Given the description of an element on the screen output the (x, y) to click on. 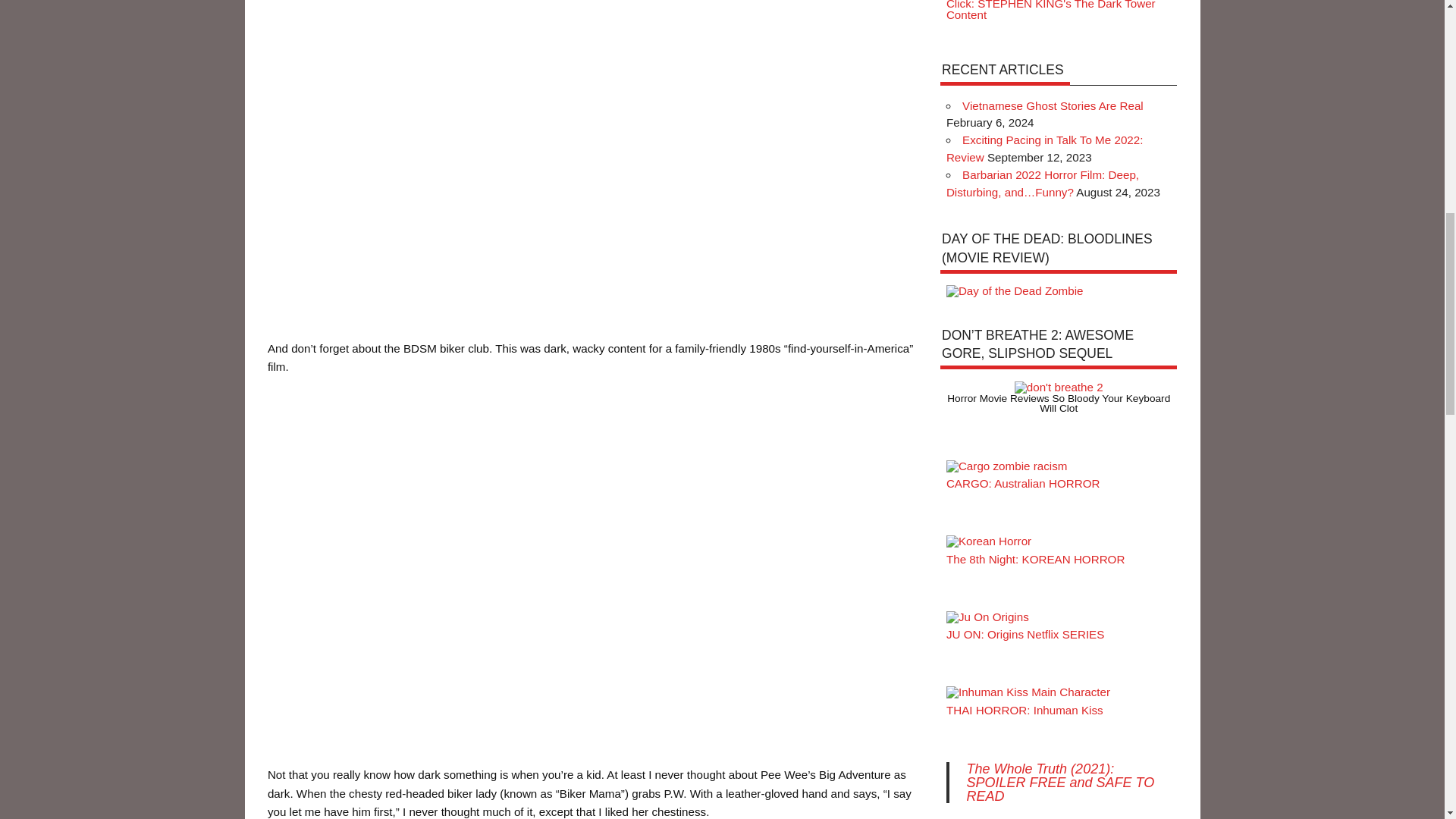
Exciting Pacing in Talk To Me 2022: Review (1044, 148)
Don't Breathe 2 (1058, 387)
CARGO: Australian HORROR (1023, 482)
Vietnamese Ghost Stories Are Real (1052, 105)
The 8th Night: KOREAN HORROR (1035, 558)
THAI HORROR: Inhuman Kiss (1024, 709)
Click: STEPHEN KING's The Dark Tower Content (1051, 10)
JU ON: Origins Netflix SERIES (1024, 634)
